Given the description of an element on the screen output the (x, y) to click on. 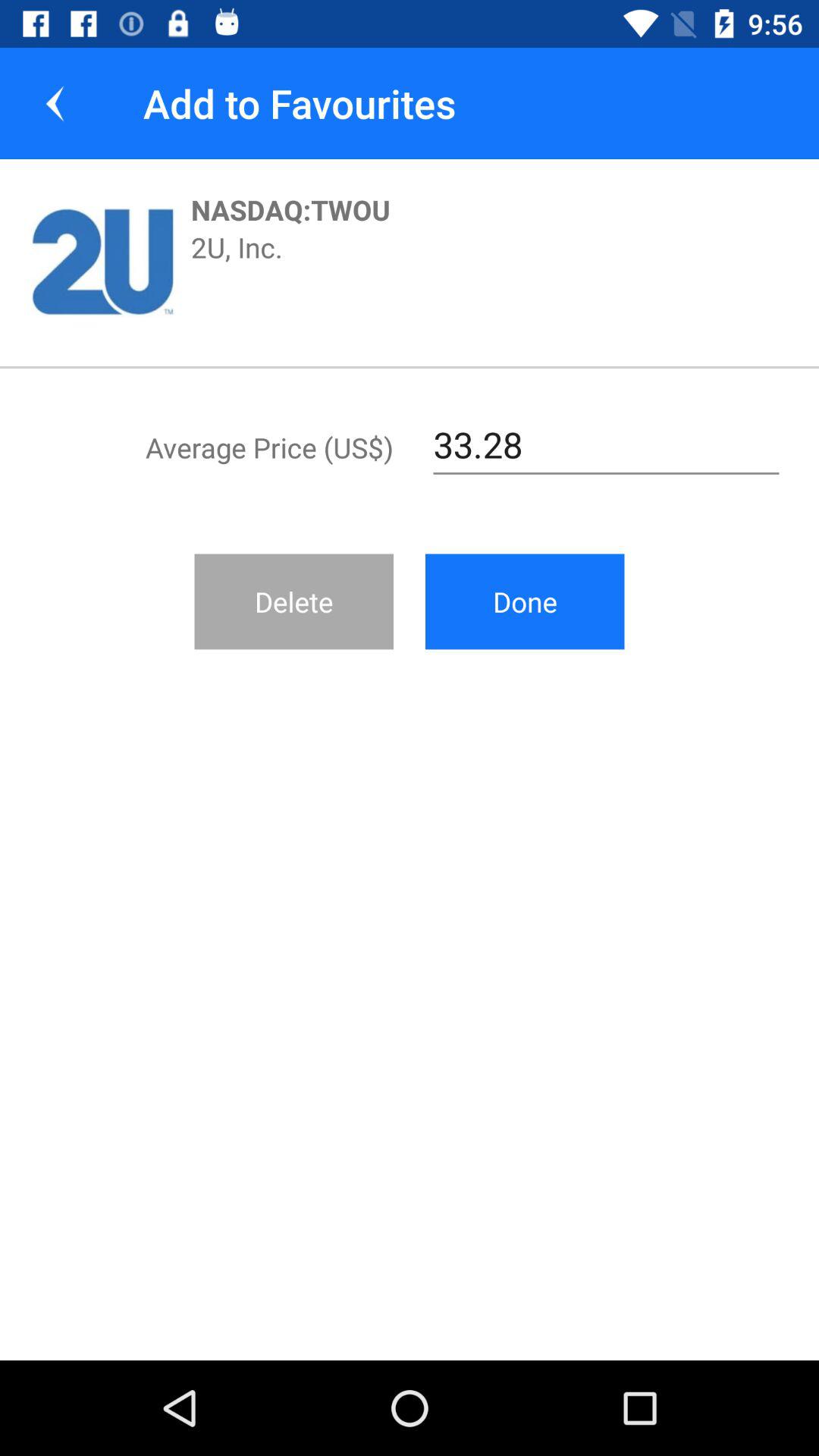
select the icon next to the delete (524, 601)
